Given the description of an element on the screen output the (x, y) to click on. 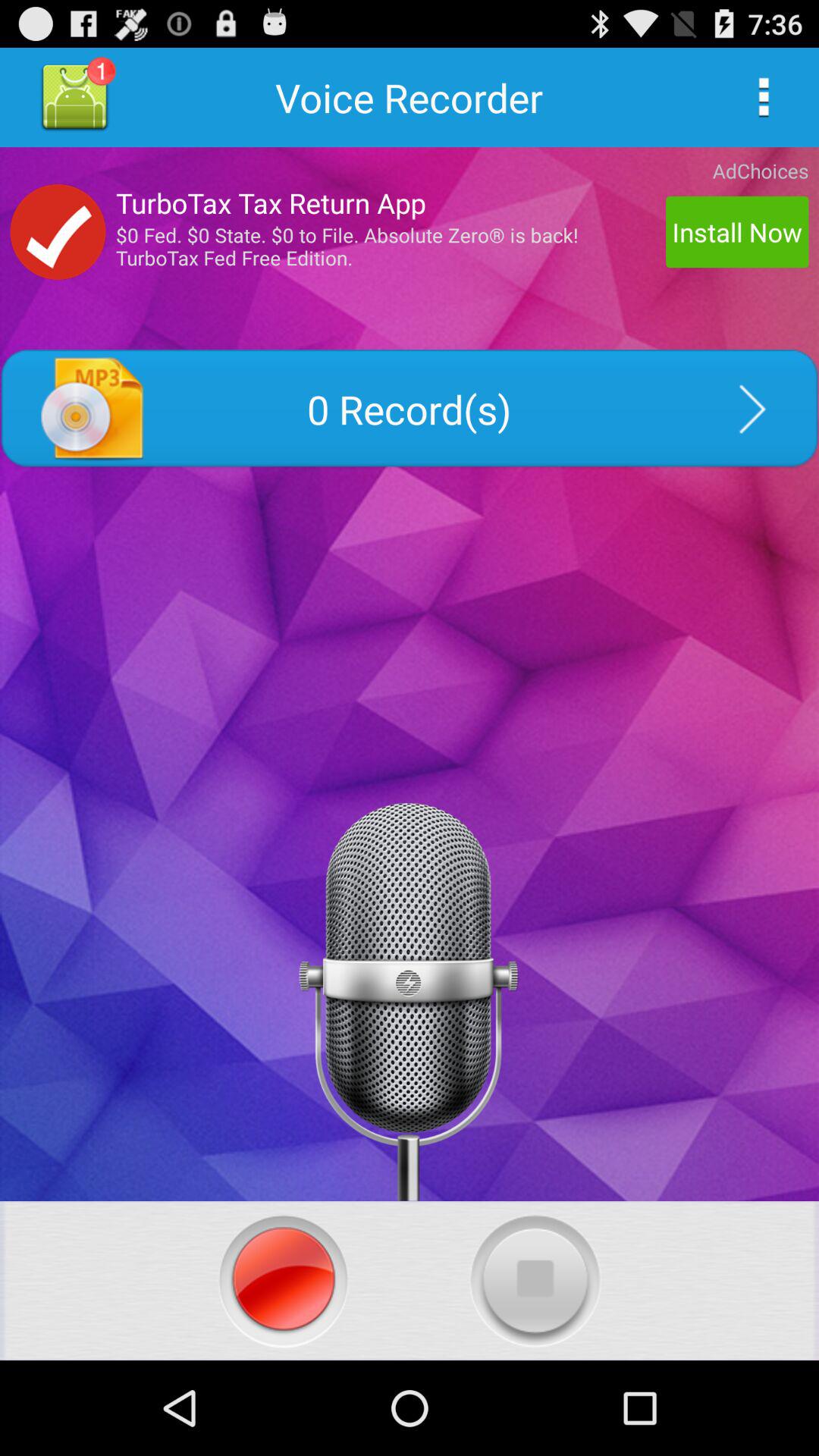
stop (535, 1280)
